Given the description of an element on the screen output the (x, y) to click on. 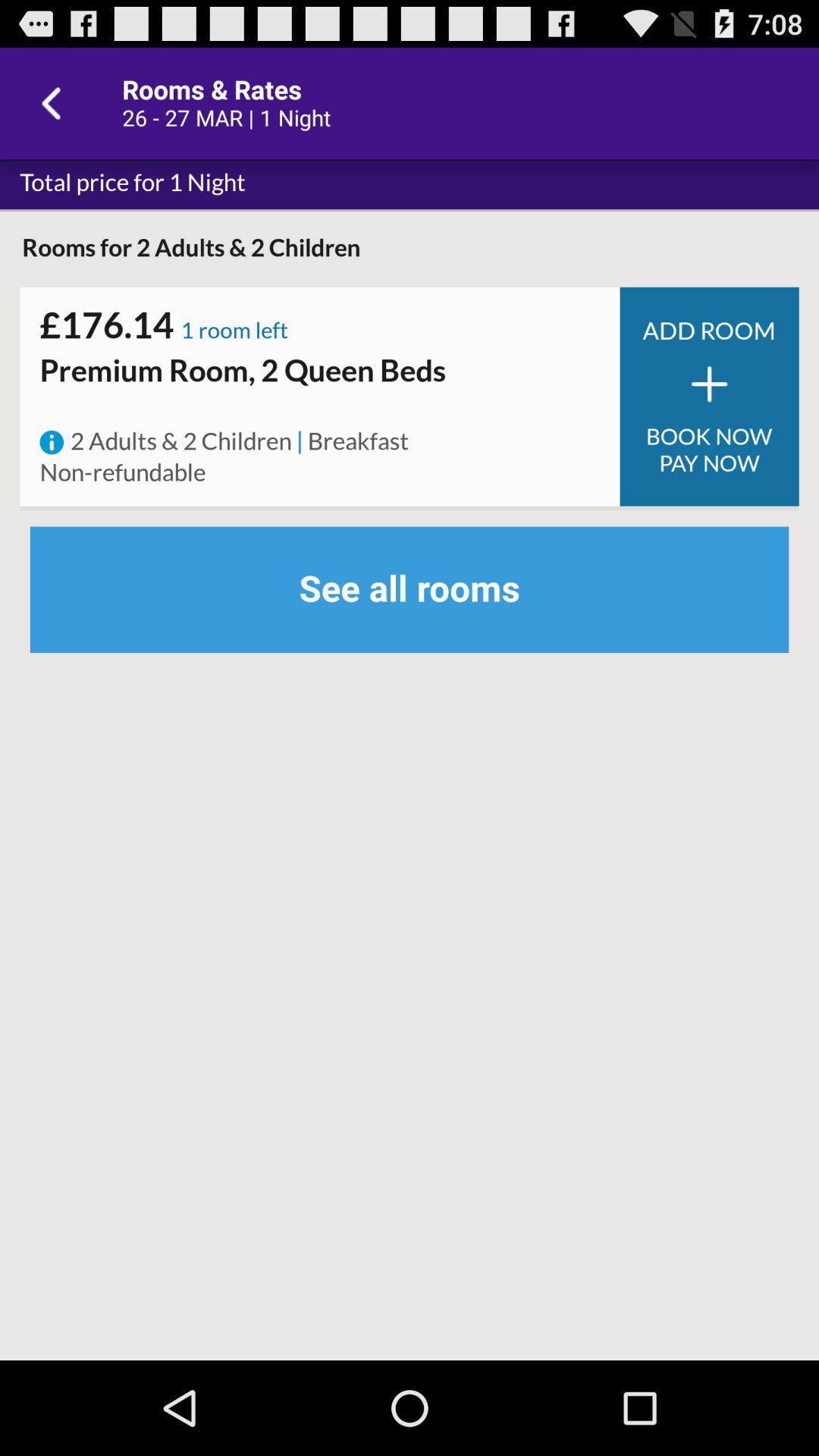
choose item above the premium room 2 (319, 349)
